Given the description of an element on the screen output the (x, y) to click on. 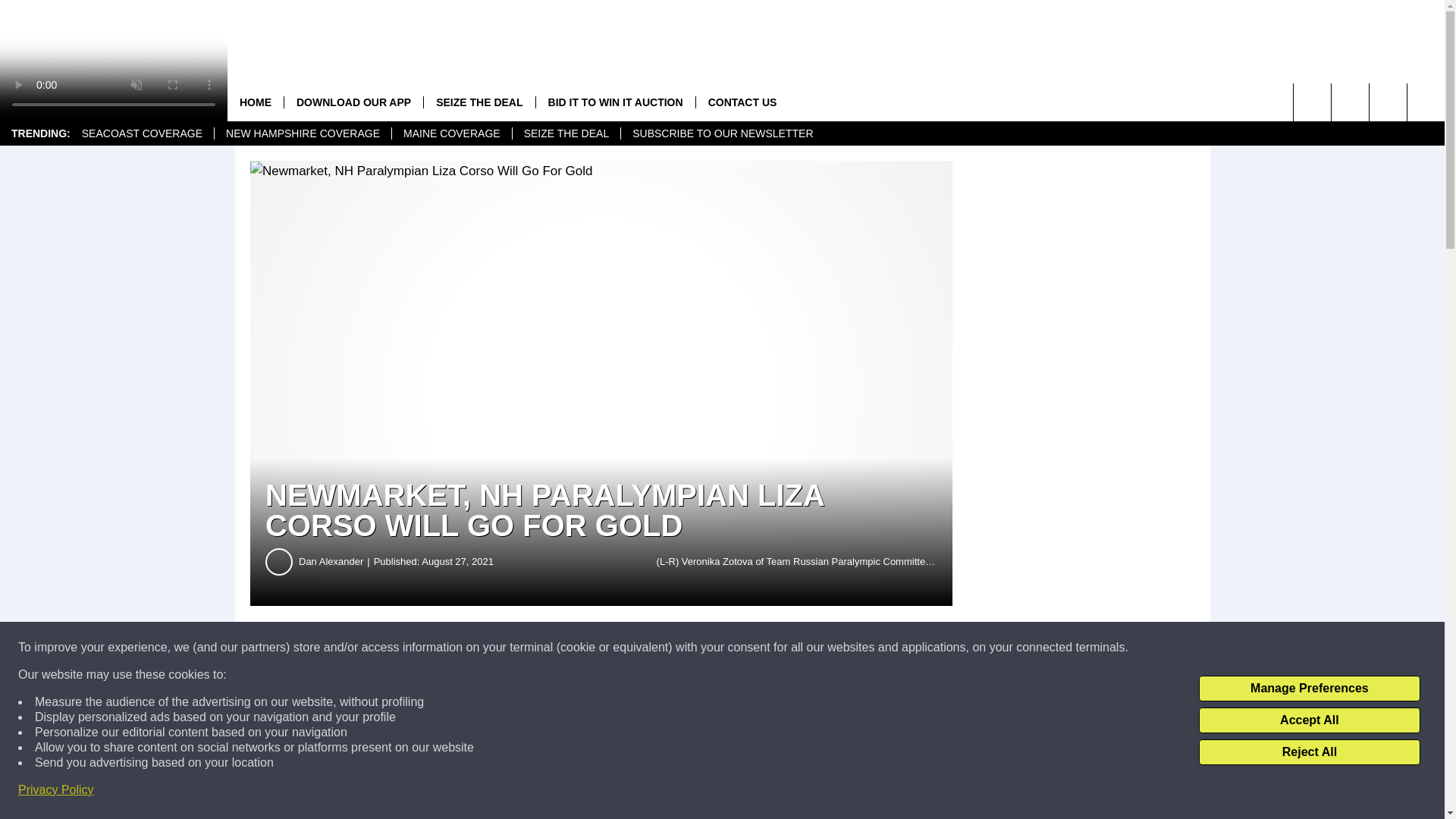
SEIZE THE DEAL (566, 133)
SUBSCRIBE TO OUR NEWSLETTER (722, 133)
Share on Twitter (741, 647)
NEW HAMPSHIRE COVERAGE (302, 133)
Visit us on Facebook (1388, 102)
Accept All (1309, 720)
Reject All (1309, 751)
Privacy Policy (55, 789)
Visit us on Youtube (1350, 102)
CONTACT US (742, 102)
Manage Preferences (1309, 688)
HOME (255, 102)
BID IT TO WIN IT AUCTION (615, 102)
MAINE COVERAGE (451, 133)
DOWNLOAD OUR APP (353, 102)
